Given the description of an element on the screen output the (x, y) to click on. 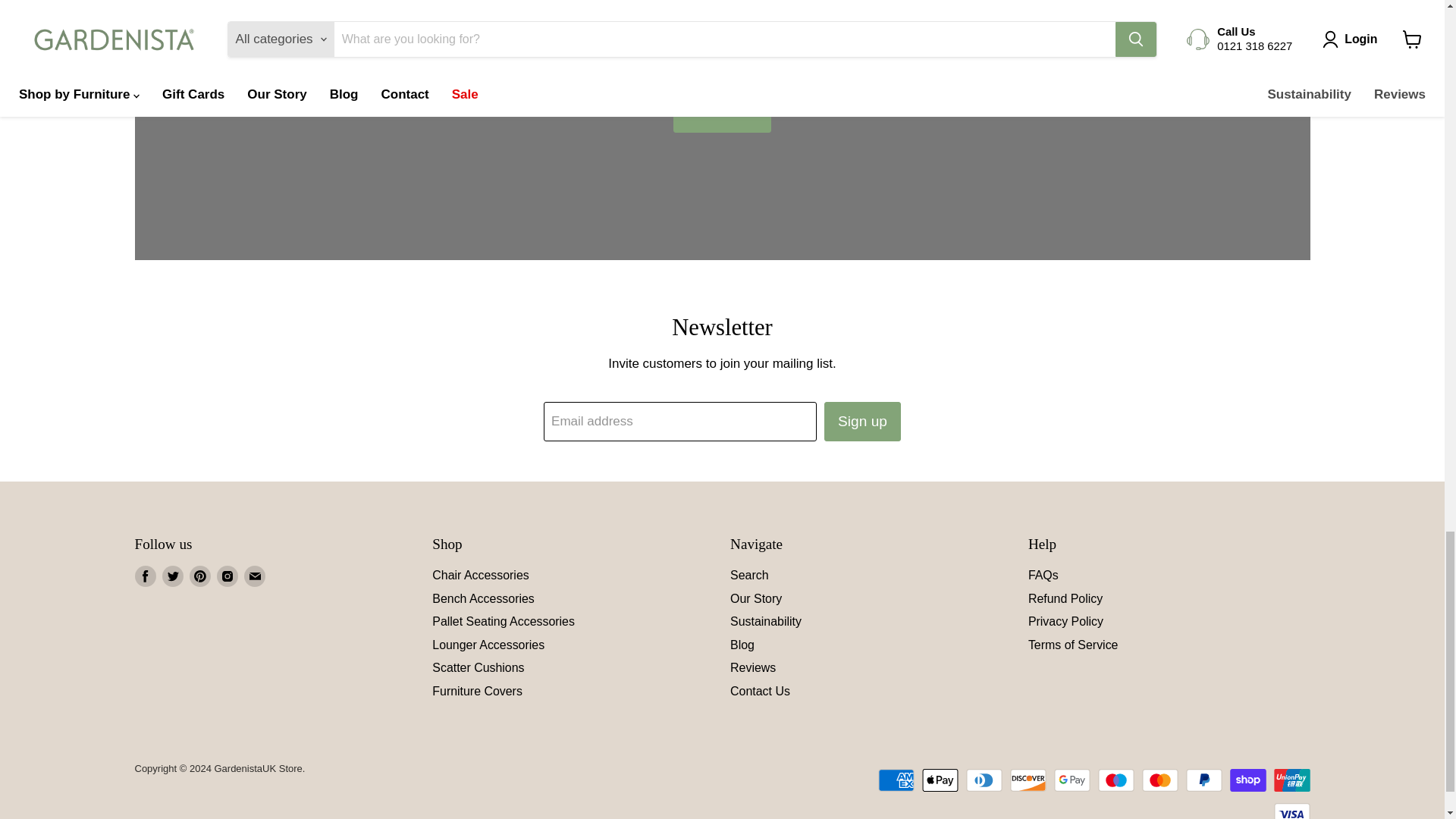
Google Pay (1072, 780)
American Express (895, 780)
Diners Club (984, 780)
Mastercard (1159, 780)
Discover (1028, 780)
Maestro (1115, 780)
Instagram (227, 576)
Twitter (172, 576)
Apple Pay (939, 780)
Facebook (145, 576)
Pinterest (200, 576)
Email (254, 576)
